Given the description of an element on the screen output the (x, y) to click on. 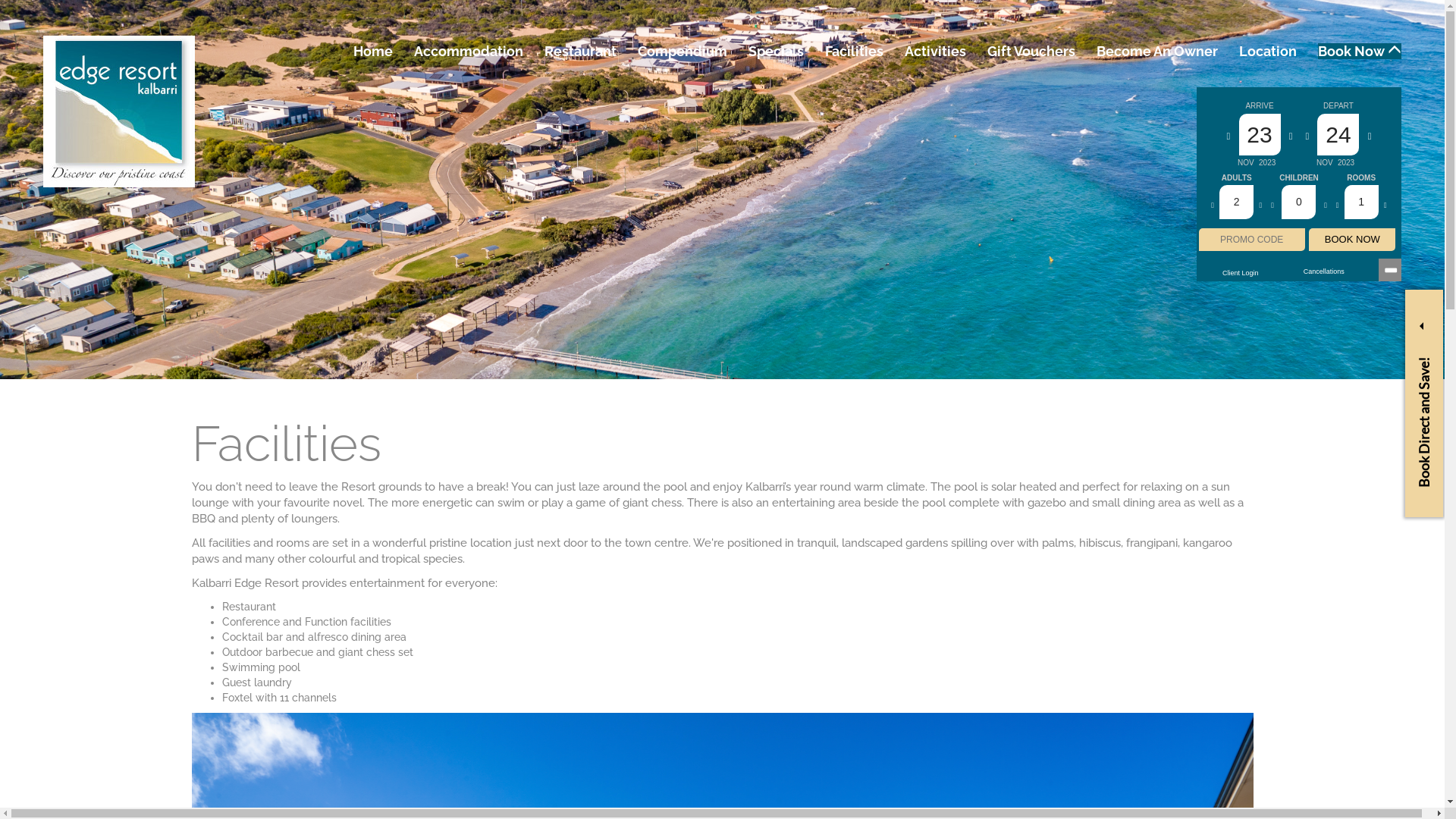
Compendium Element type: text (682, 51)
Cancellations Element type: text (1323, 271)
Location Element type: text (1267, 51)
Facilities Element type: text (854, 51)
Gift Vouchers Element type: text (1031, 51)
Become An Owner Element type: text (1156, 51)
Client Login Element type: text (1240, 272)
Specials Element type: text (775, 51)
Accommodation Element type: text (468, 51)
Activities Element type: text (935, 51)
BOOK NOW Element type: text (1351, 239)
Book Now Element type: text (1359, 51)
Restaurant Element type: text (580, 51)
Home Element type: text (372, 51)
